Given the description of an element on the screen output the (x, y) to click on. 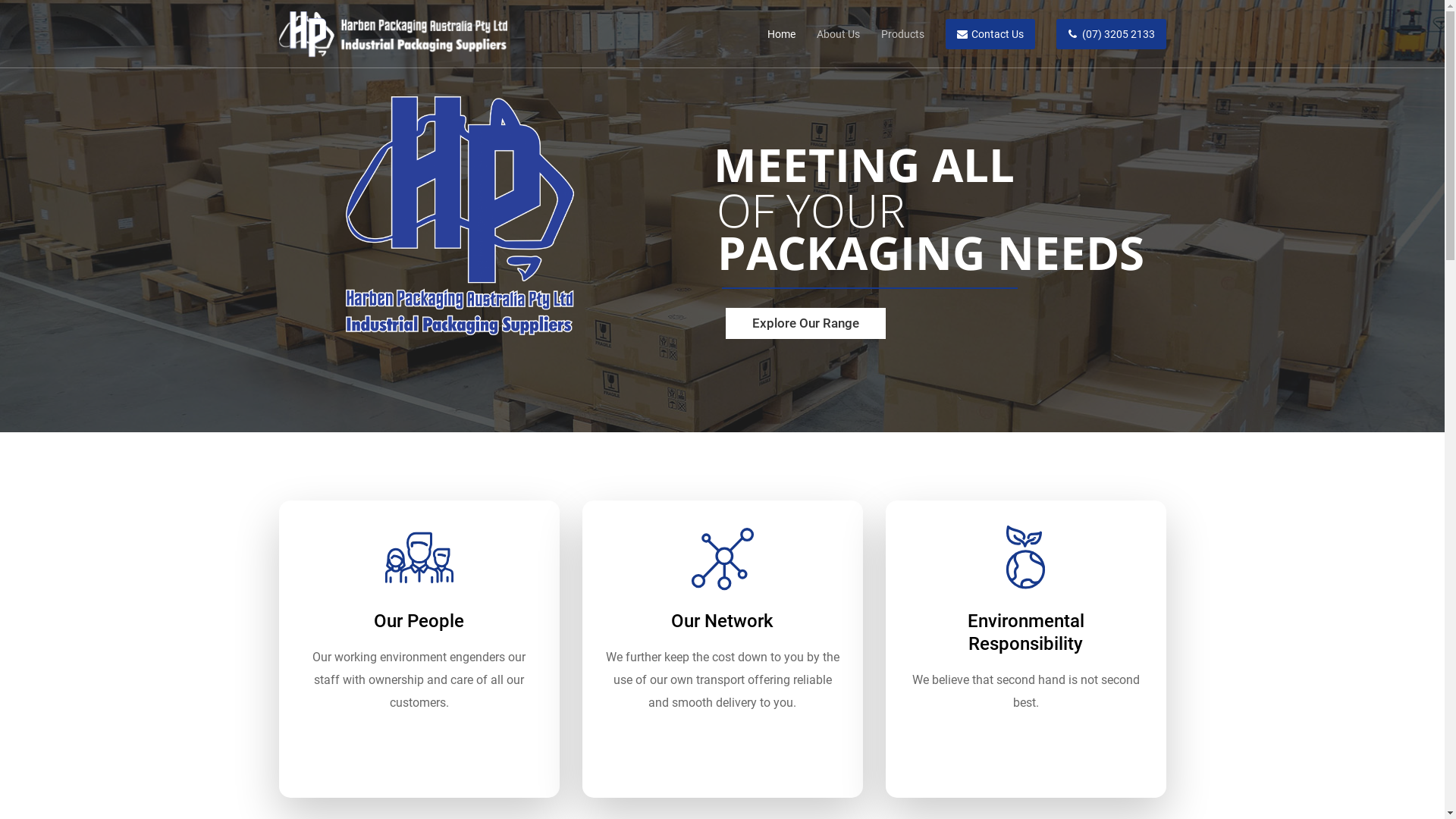
Products Element type: text (891, 34)
About Us Element type: text (826, 34)
(07) 3205 2133 Element type: text (1099, 34)
Contact Us Element type: text (978, 34)
Explore Our Range Element type: text (805, 322)
Home Element type: text (770, 34)
